Given the description of an element on the screen output the (x, y) to click on. 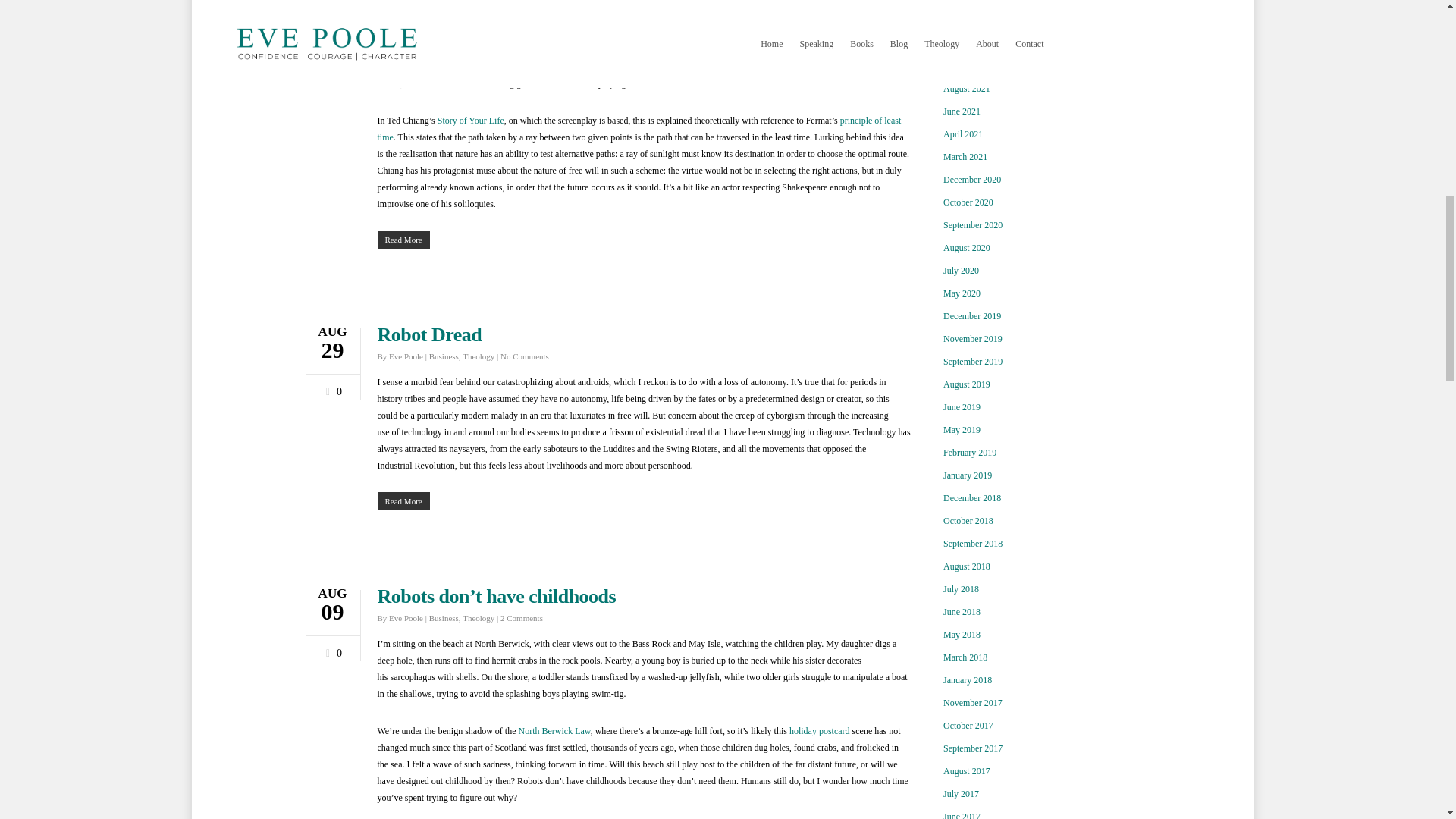
What is morality if the future is known? (538, 6)
Theology (479, 23)
Love this (330, 388)
0 (330, 56)
Eve Poole (405, 23)
Business (443, 23)
Love this (330, 56)
Posts by Eve Poole (405, 356)
No Comments (524, 23)
Arrival (438, 50)
